Given the description of an element on the screen output the (x, y) to click on. 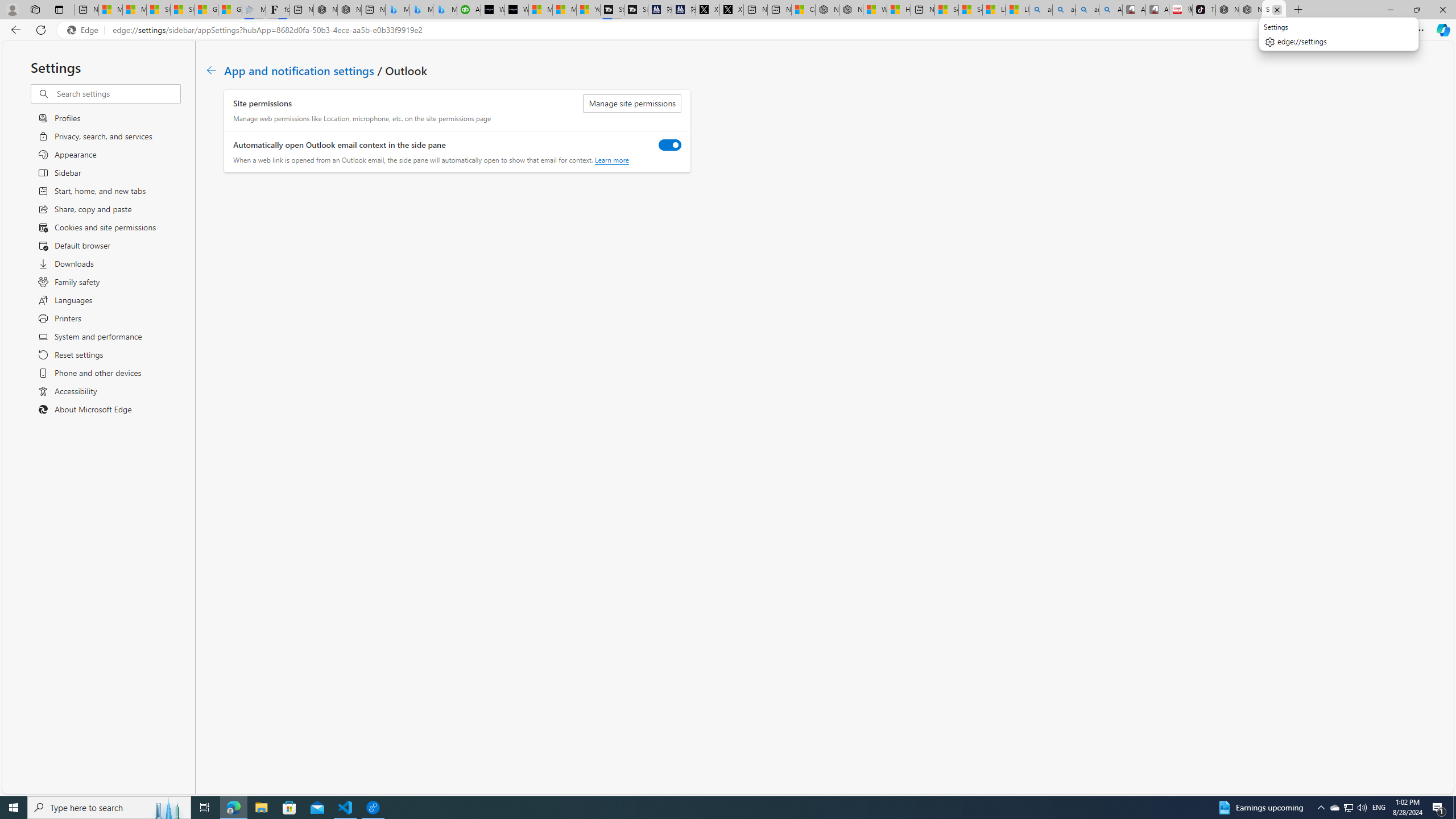
Go back to App and notification settings page. (210, 70)
Class: c01188 (210, 70)
Search settings (117, 93)
Automatically open Outlook email context in the side pane (669, 144)
All Cubot phones (1157, 9)
Settings (1273, 9)
Microsoft Bing Travel - Shangri-La Hotel Bangkok (444, 9)
